Given the description of an element on the screen output the (x, y) to click on. 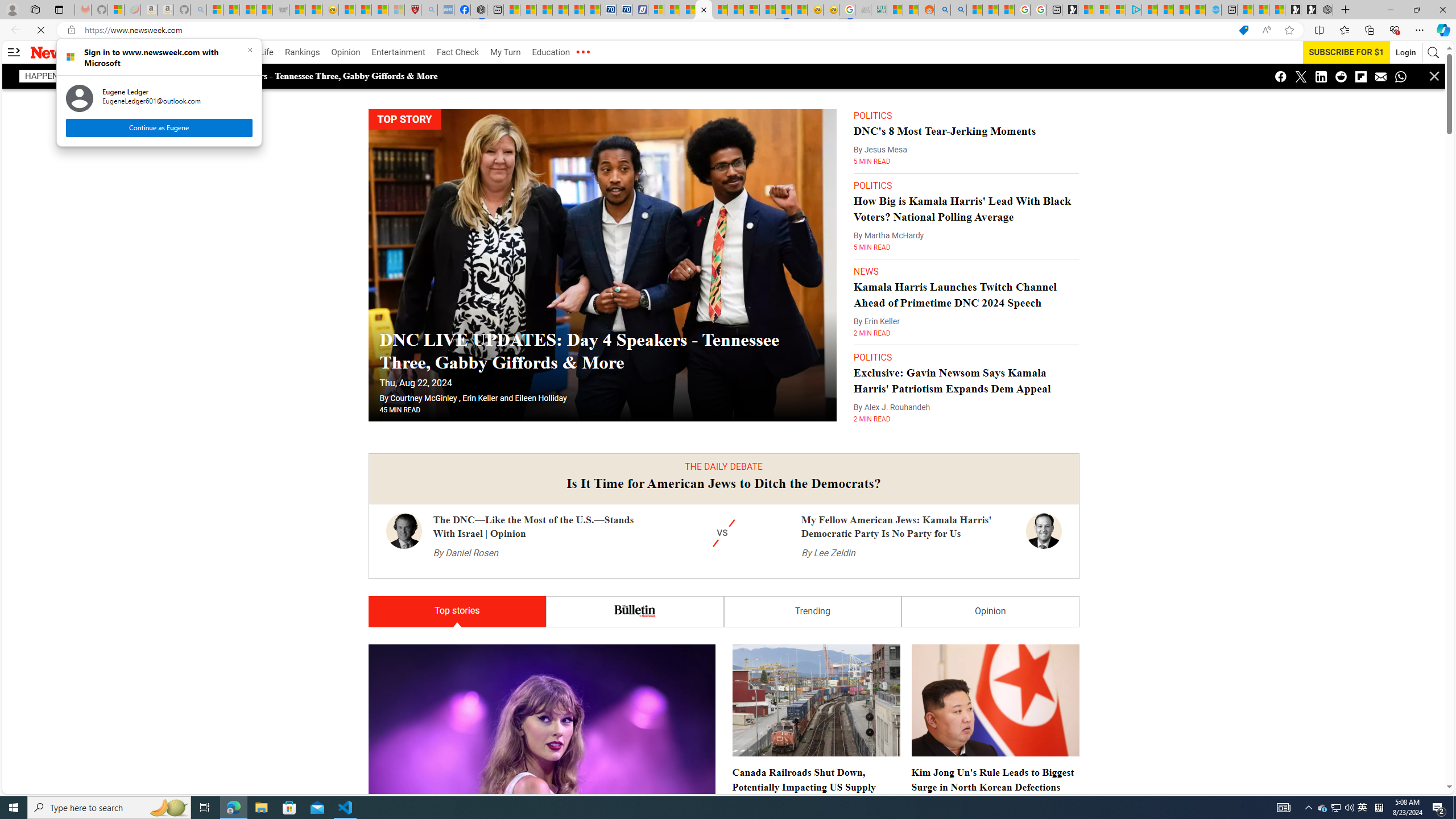
12 Popular Science Lies that Must be Corrected - Sleeping (395, 9)
My Turn (505, 52)
Fact Check (457, 52)
Continue as Eugene (158, 127)
Microsoft Store (289, 807)
Entertainment (397, 52)
AutomationID: 4105 (1283, 807)
By Billal Rahman (762, 791)
By Micah McCartney (947, 673)
